Given the description of an element on the screen output the (x, y) to click on. 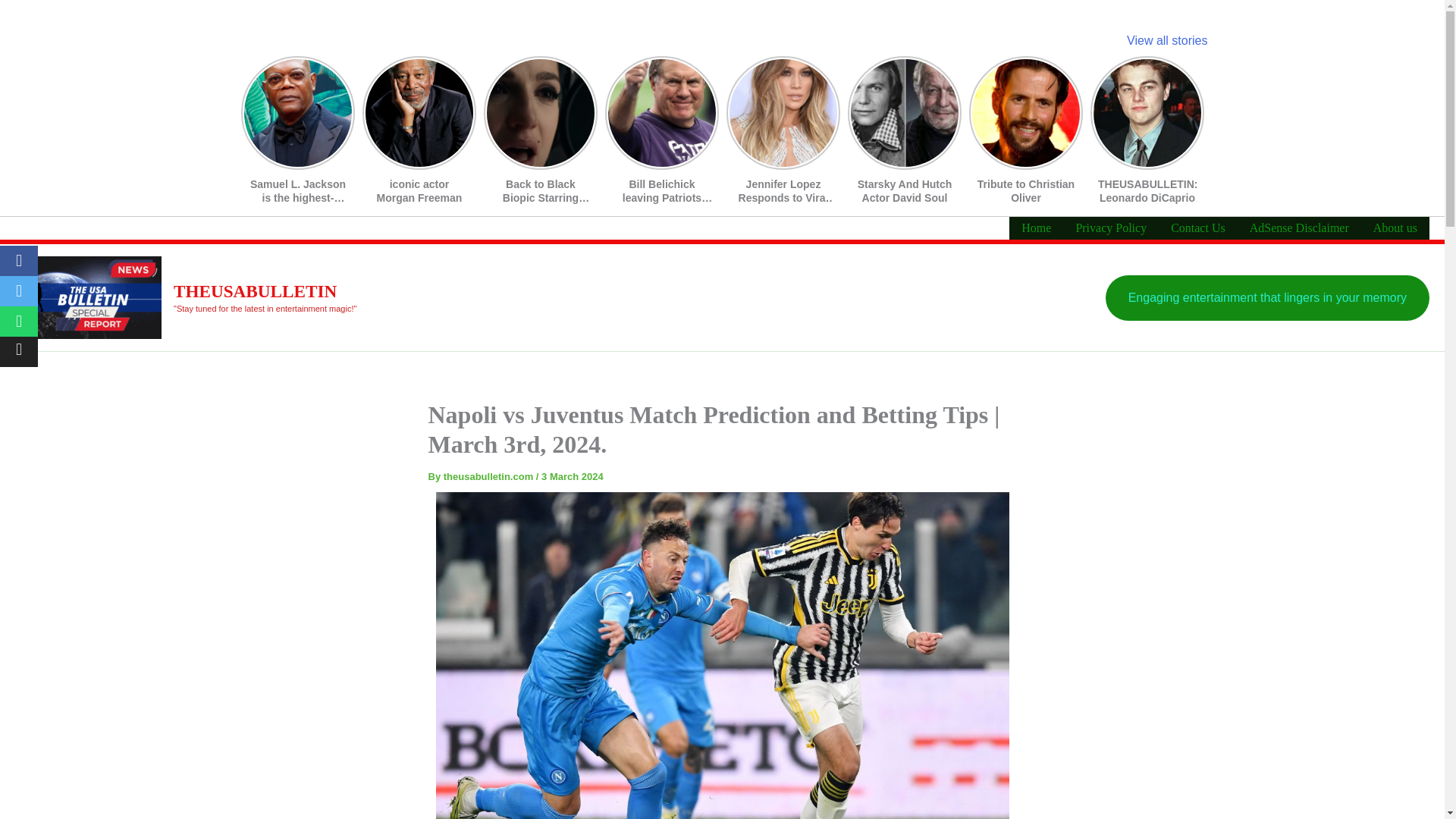
AdSense Disclaimer (1299, 228)
View all stories (1166, 40)
theusabulletin.com (489, 476)
Home (1035, 228)
Privacy Policy (1110, 228)
Contact Us (1197, 228)
View all posts by theusabulletin.com (489, 476)
THEUSABULLETIN (254, 291)
About us (1395, 228)
Engaging entertainment that lingers in your memory (1267, 298)
